Given the description of an element on the screen output the (x, y) to click on. 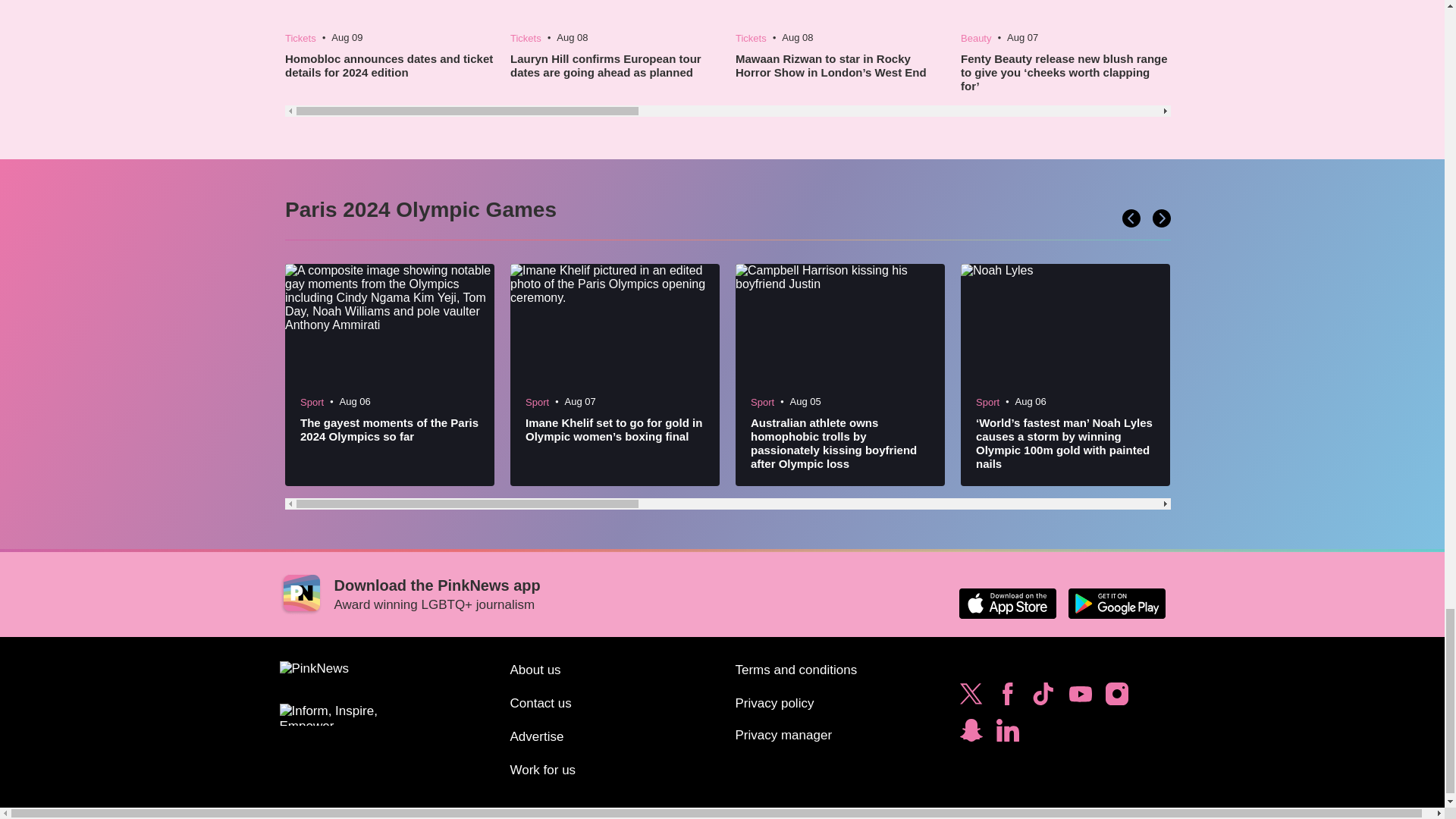
Follow PinkNews on TikTok (1042, 697)
Follow PinkNews on Twitter (970, 697)
Follow PinkNews on LinkedIn (1007, 733)
Subscribe to PinkNews on Snapchat (970, 733)
Follow PinkNews on Instagram (1116, 697)
Subscribe to PinkNews on YouTube (1079, 697)
Download the PinkNews app on Google Play (1115, 603)
Download the PinkNews app on the Apple App Store (1006, 603)
